Given the description of an element on the screen output the (x, y) to click on. 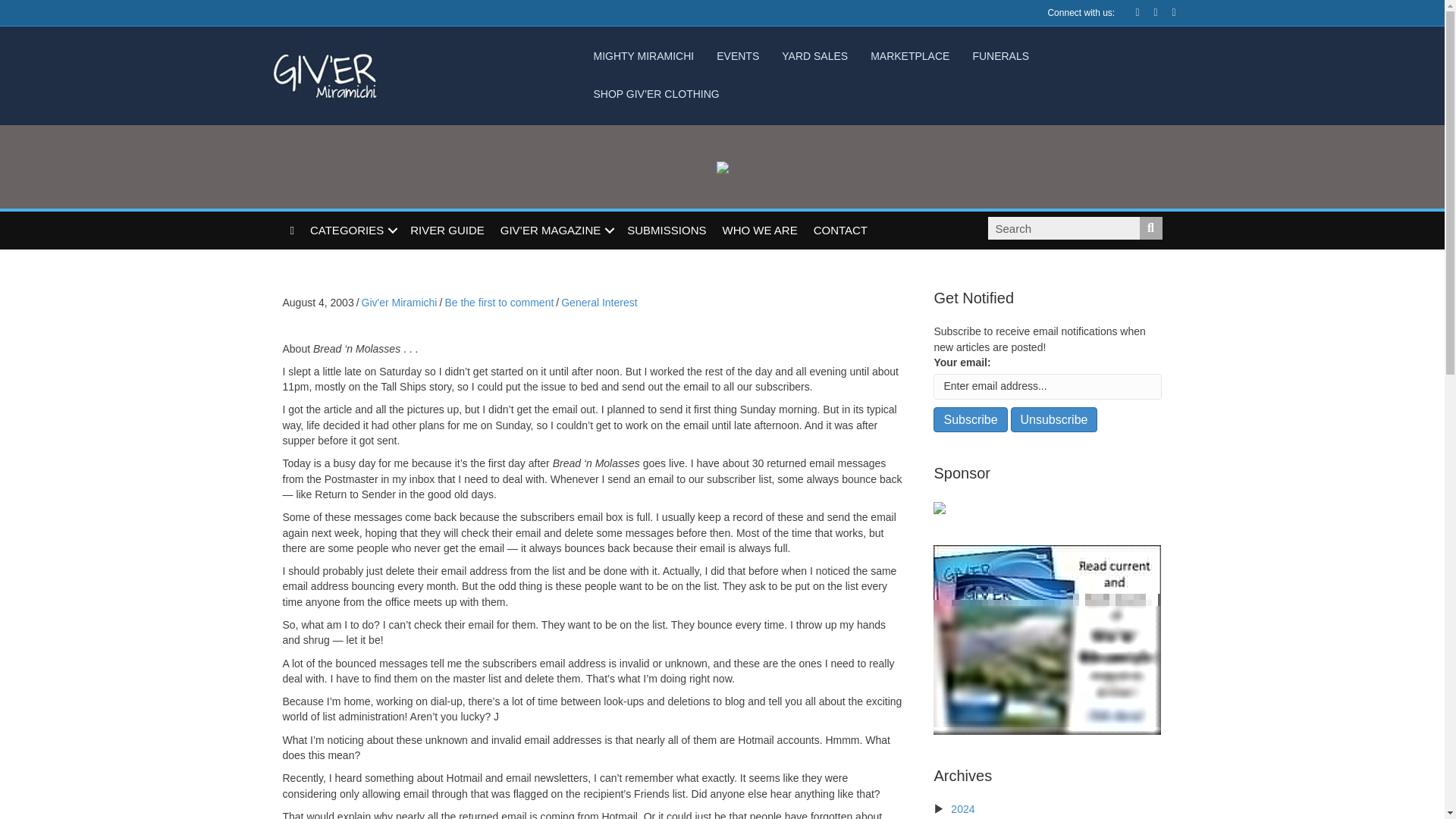
Unsubscribe (1053, 419)
Instagram (1165, 11)
Twitter (1147, 11)
CATEGORIES (351, 230)
Search (1062, 228)
YARD SALES (814, 56)
FUNERALS (1000, 56)
MIGHTY MIRAMICHI (642, 56)
Subscribe (970, 419)
RIVER GUIDE (447, 230)
